Given the description of an element on the screen output the (x, y) to click on. 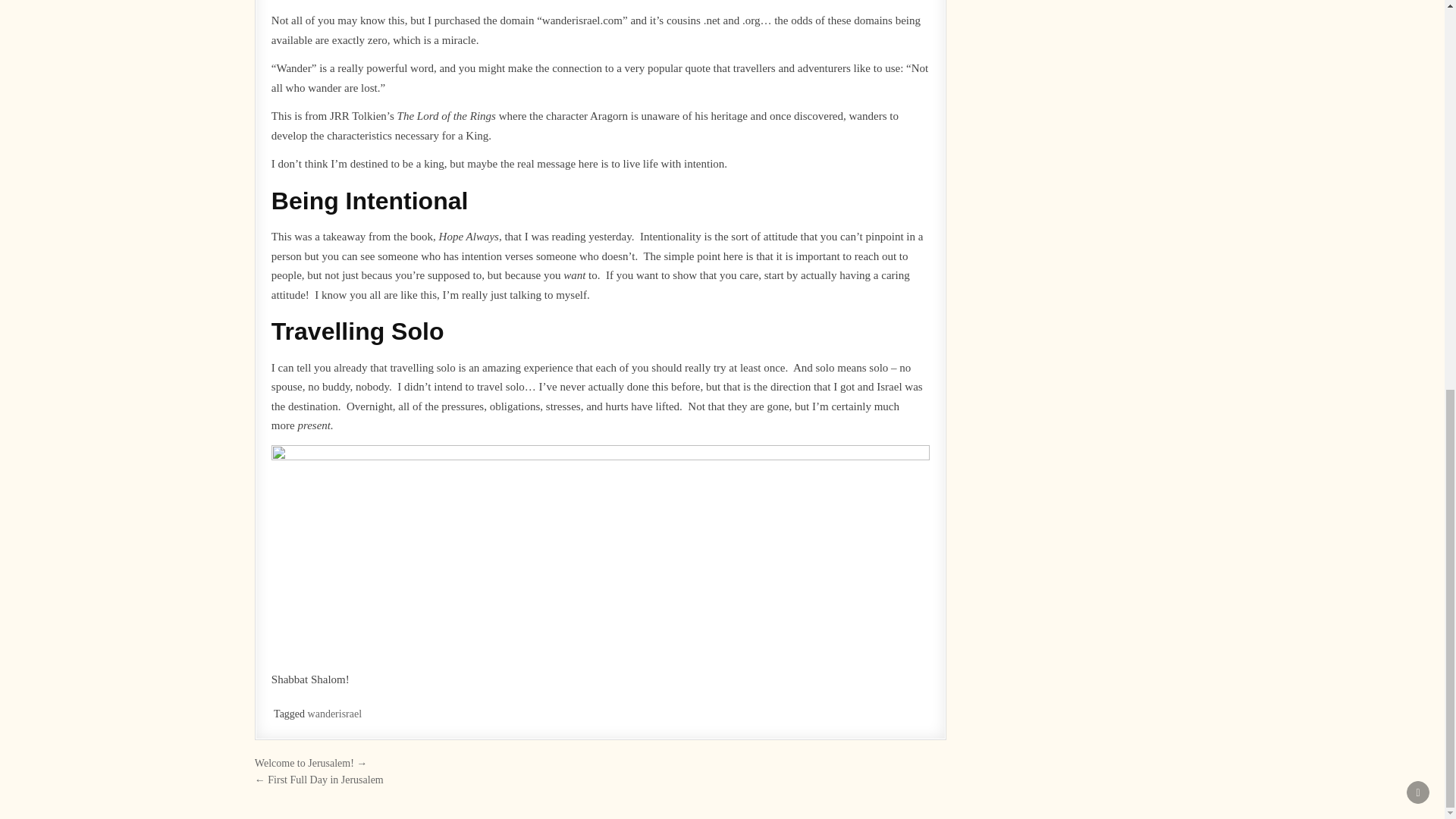
SCROLL TO TOP (1417, 76)
SCROLL TO TOP (1417, 76)
WANDERISRAEL (624, 698)
Scroll to Top (1417, 76)
